Given the description of an element on the screen output the (x, y) to click on. 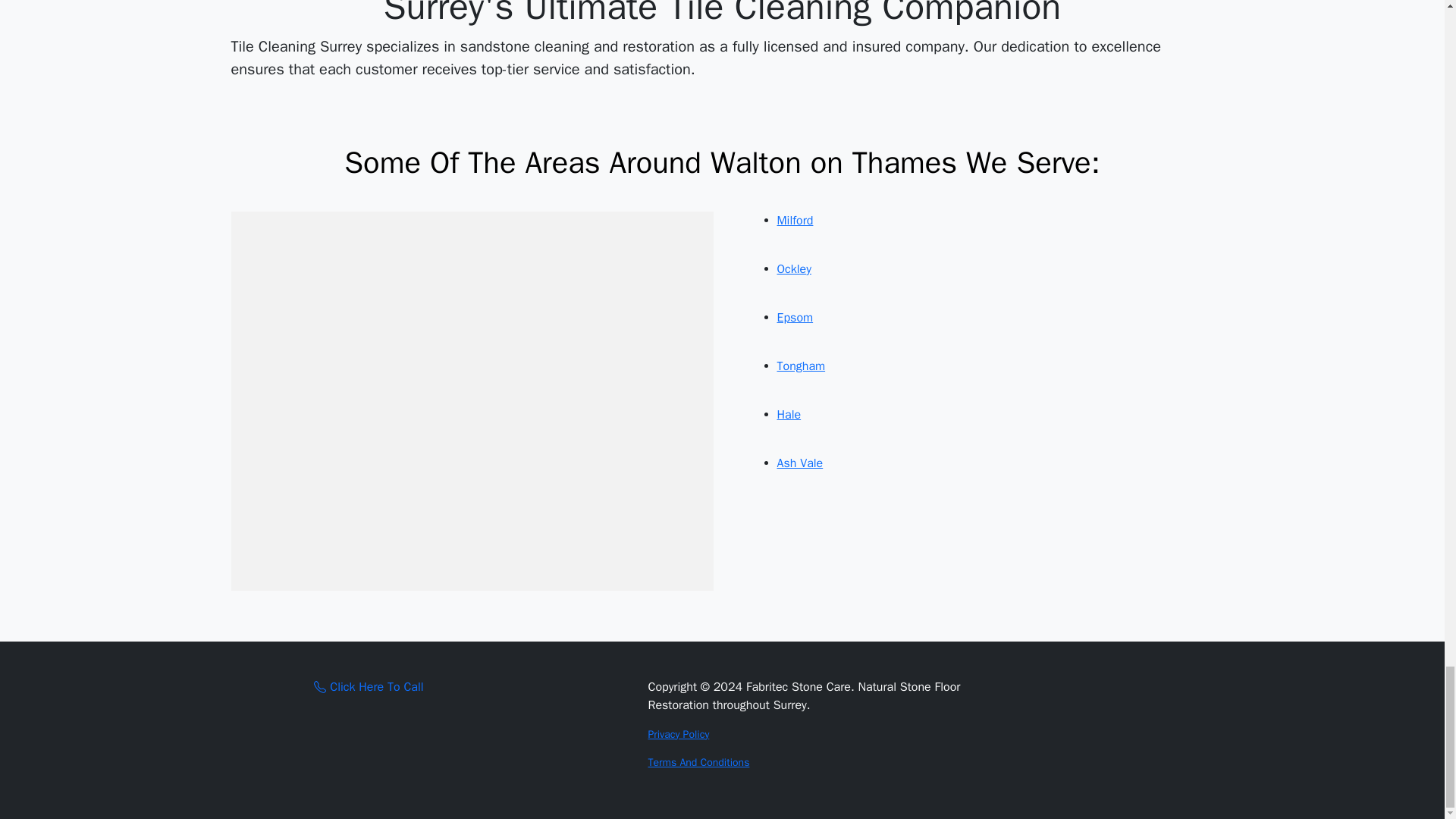
Epsom (794, 317)
Tongham (800, 365)
Privacy Policy (678, 734)
Milford (794, 220)
Hale (788, 414)
: Click Here To Call (368, 687)
: (320, 686)
Terms And Conditions (698, 762)
Milford (794, 220)
